Given the description of an element on the screen output the (x, y) to click on. 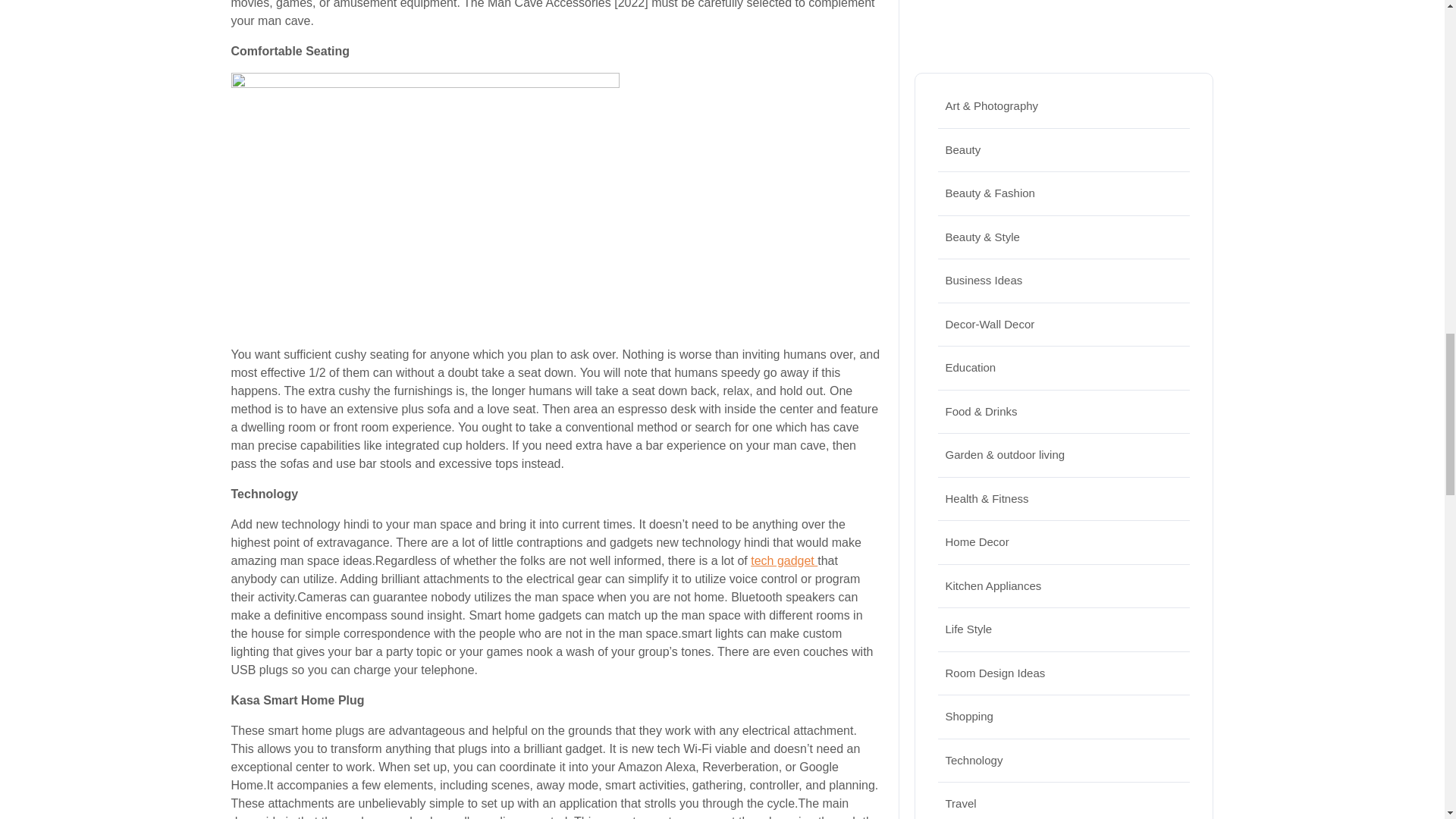
Latest Posts Scrolling (1064, 27)
tech gadget (783, 560)
